Given the description of an element on the screen output the (x, y) to click on. 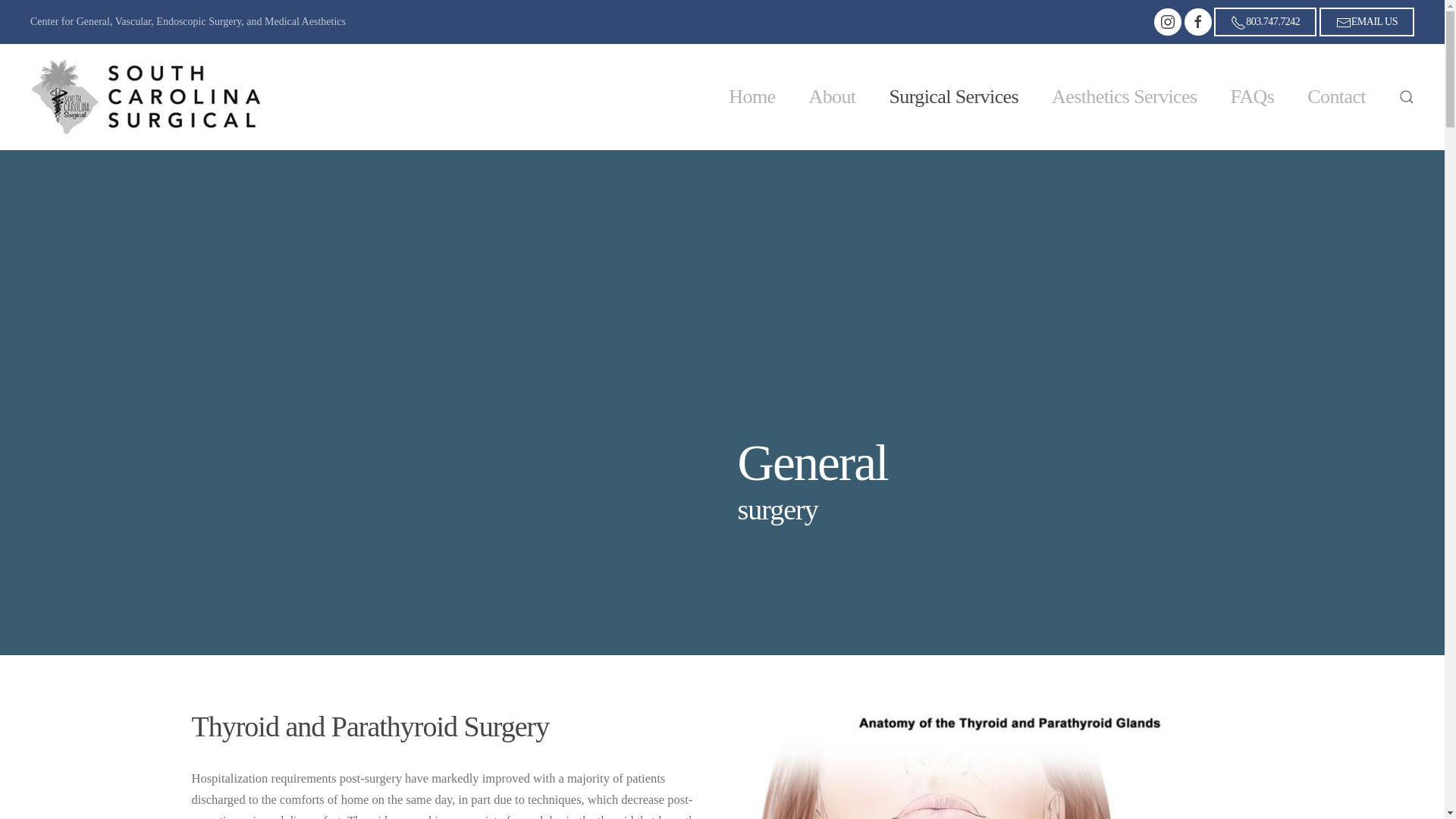
surgery (994, 509)
General (994, 462)
803.747.7242 (1265, 21)
EMAIL US (1366, 21)
Surgical Services (952, 96)
